Given the description of an element on the screen output the (x, y) to click on. 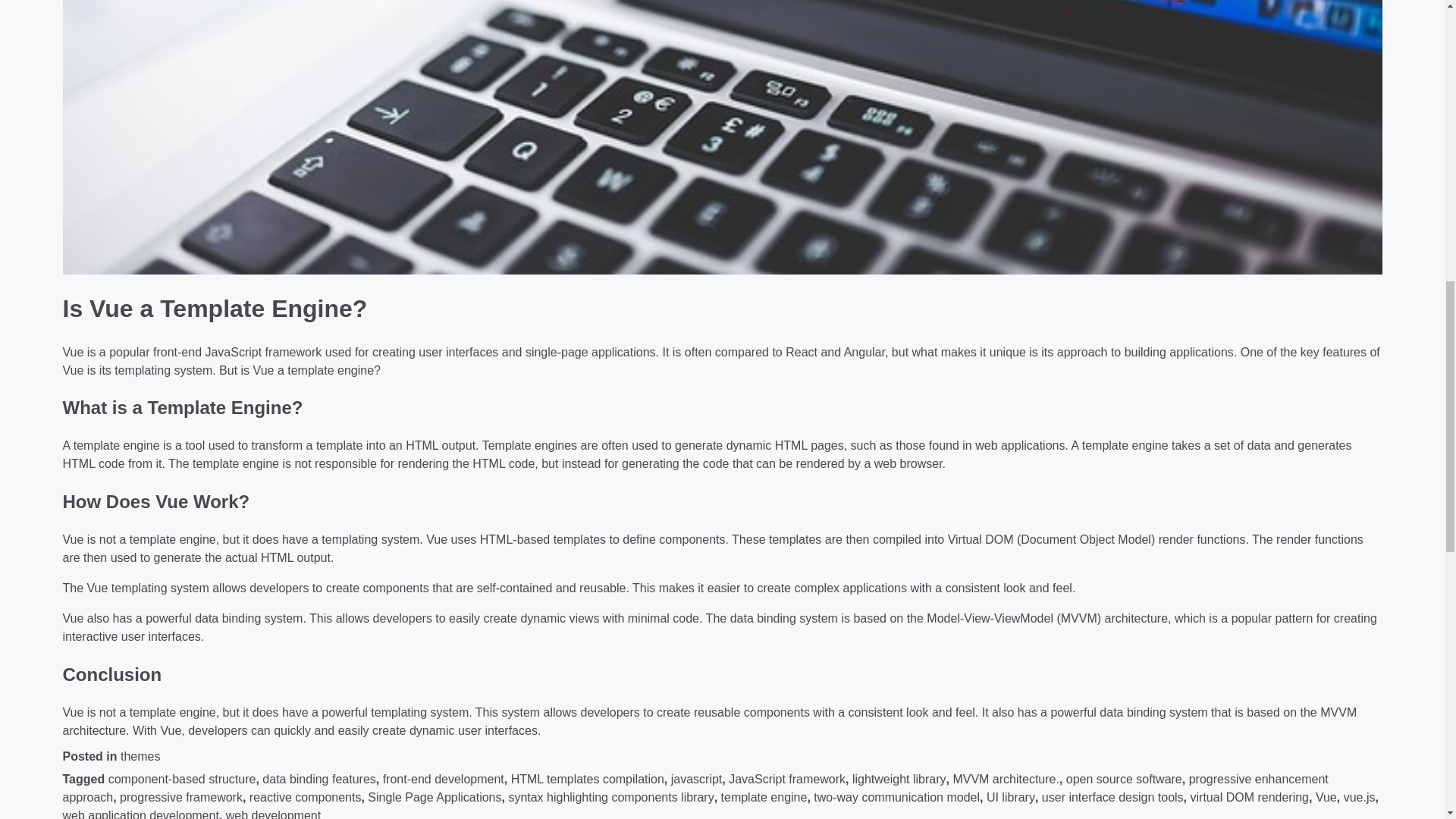
lightweight library (898, 779)
data binding features (318, 779)
MVVM architecture. (1005, 779)
Single Page Applications (434, 797)
template engine (764, 797)
open source software (1123, 779)
component-based structure (181, 779)
javascript (696, 779)
progressive enhancement approach (694, 788)
themes (140, 756)
HTML templates compilation (587, 779)
progressive framework (181, 797)
syntax highlighting components library (610, 797)
reactive components (304, 797)
JavaScript framework (787, 779)
